Given the description of an element on the screen output the (x, y) to click on. 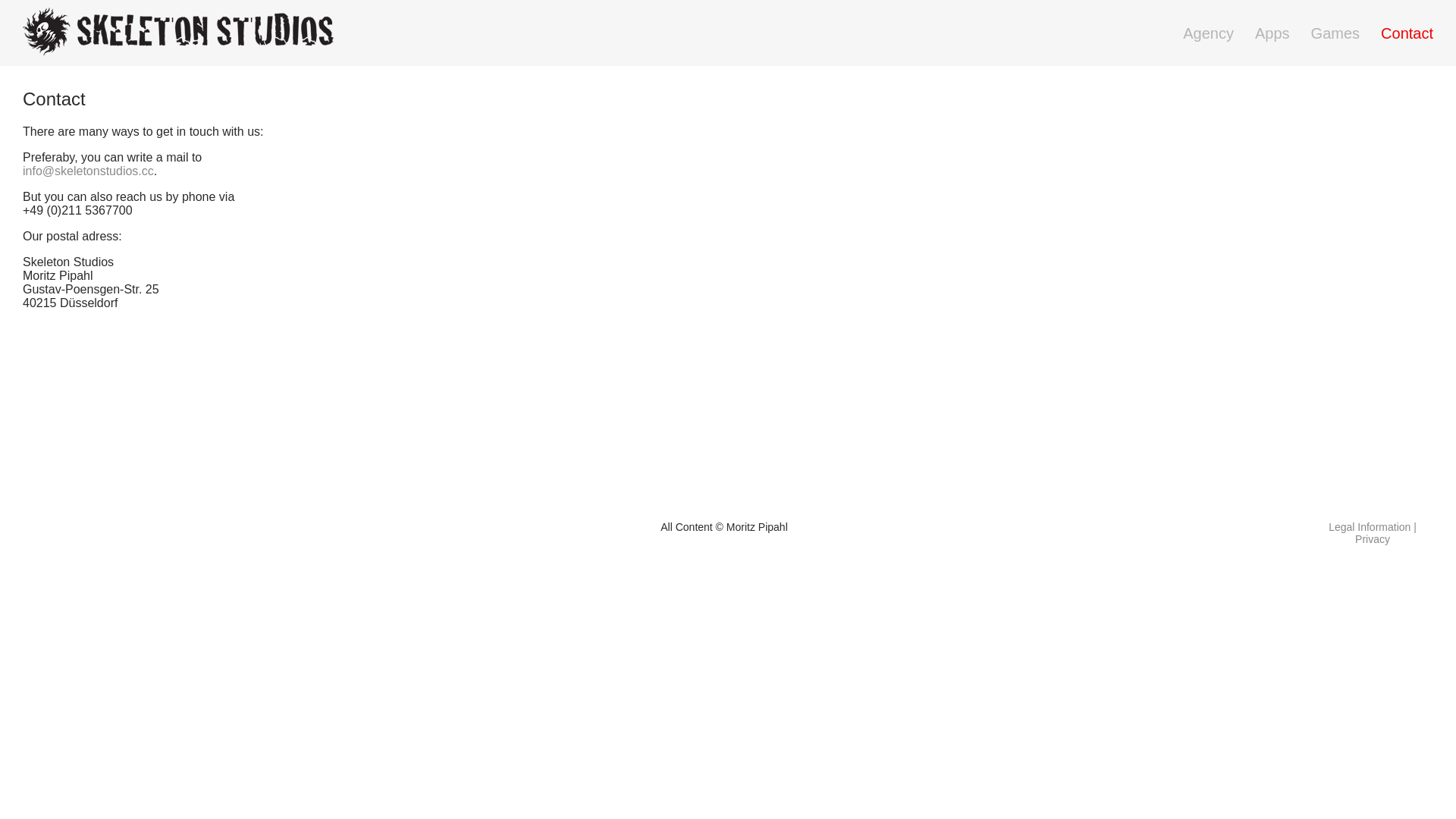
info@skeletonstudios.cc Element type: text (87, 170)
Contact Element type: text (1406, 33)
Games Element type: text (1335, 33)
Apps Element type: text (1272, 33)
Agency Element type: text (1208, 33)
Privacy Element type: text (1372, 539)
Legal Information | Element type: text (1372, 526)
